Given the description of an element on the screen output the (x, y) to click on. 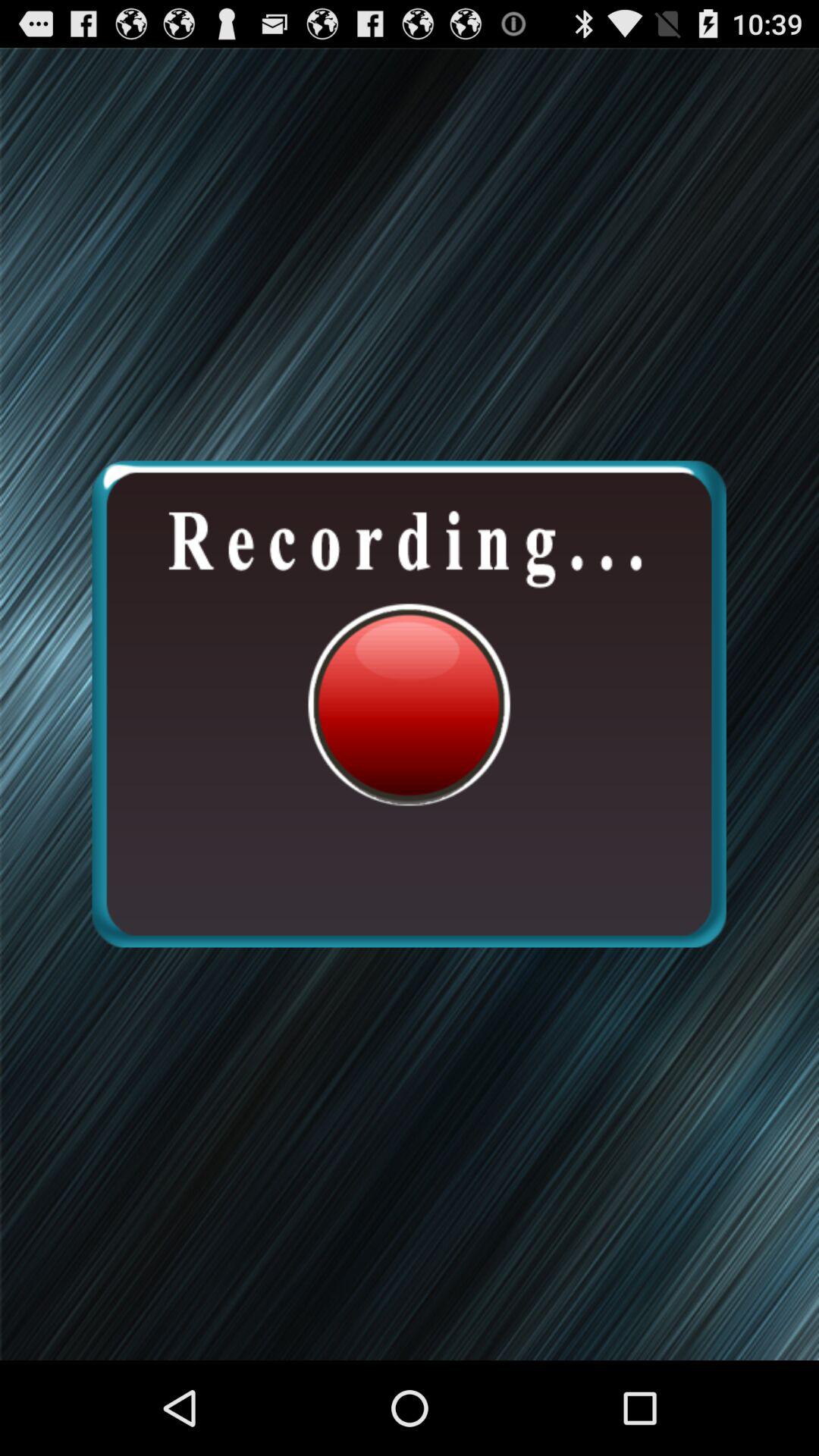
launch the icon at the center (409, 703)
